Given the description of an element on the screen output the (x, y) to click on. 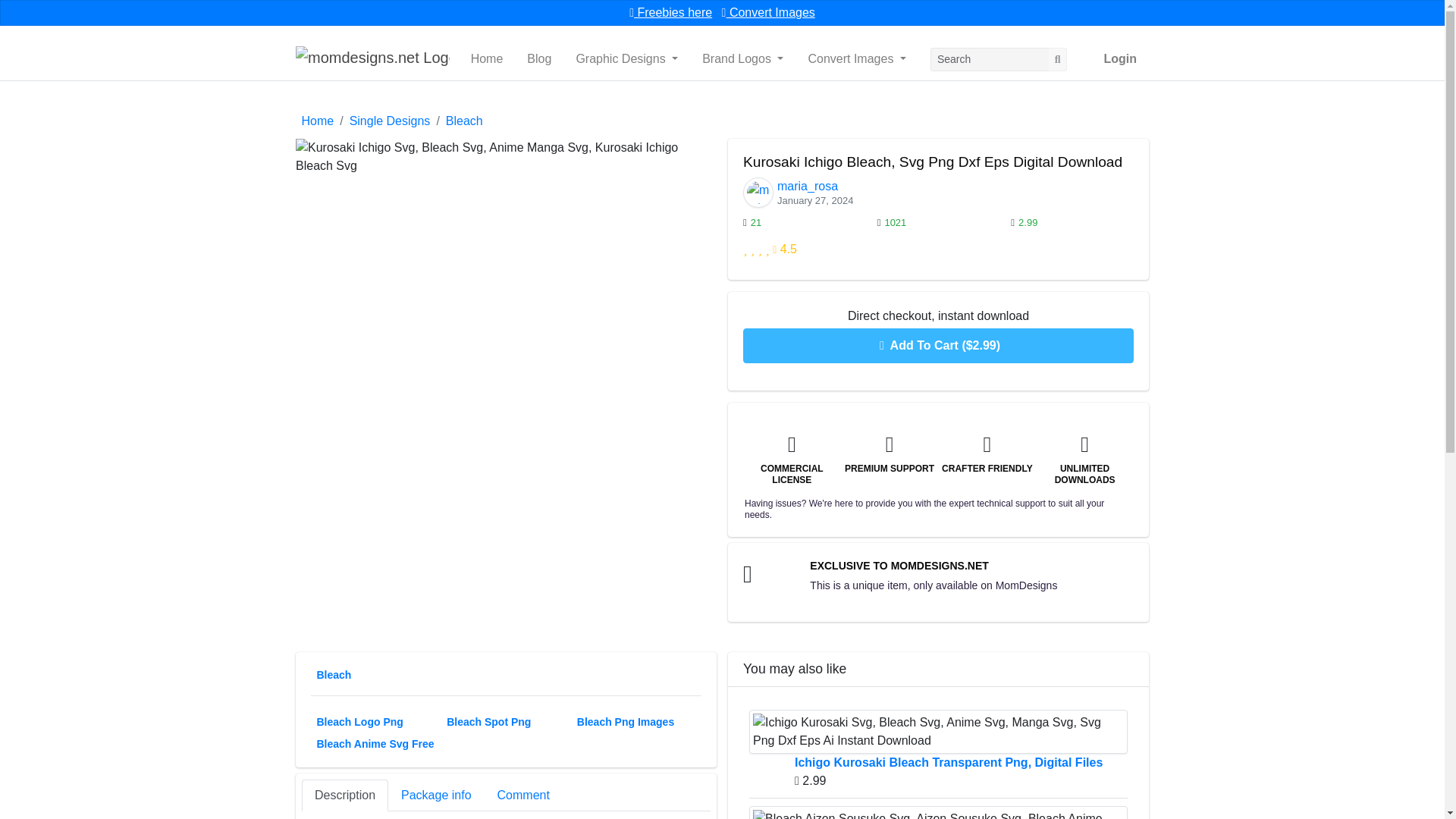
Ichigo Kurosaki Bleach Transparent Png, Digital Files (937, 731)
Bleach Aizen Sousuke, Svg Designs (937, 812)
Home (486, 59)
Graphic Designs (626, 59)
Freebies here (669, 11)
Kurosaki Ichigo Bleach, Svg Png Dxf Eps Digital Download (505, 156)
Blog (539, 59)
Convert Images (768, 11)
